Given the description of an element on the screen output the (x, y) to click on. 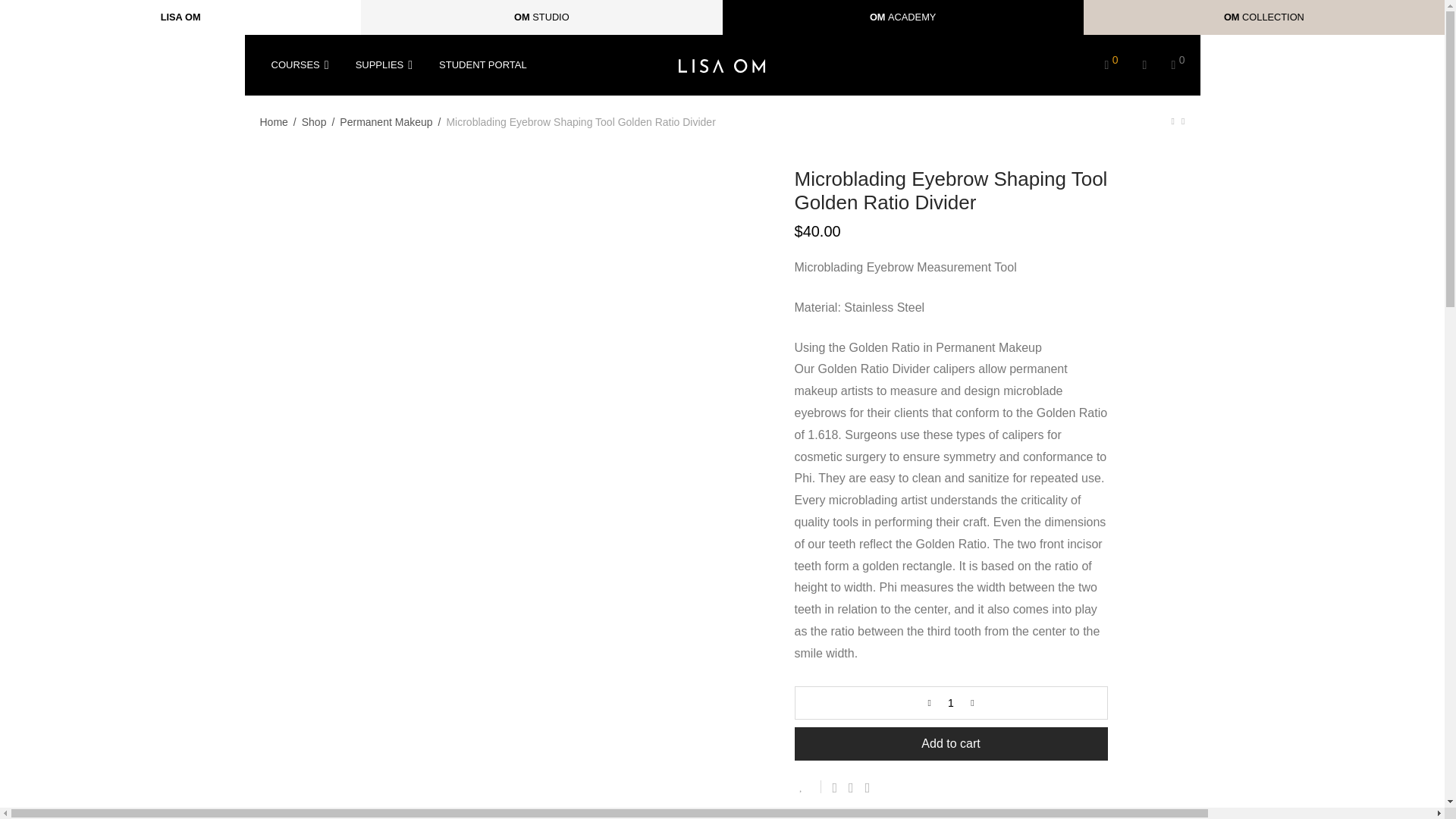
LISA OM (180, 16)
Add to Wishlist (807, 786)
ACADEMY (912, 16)
OM (1232, 16)
COLLECTION (1272, 16)
COURSES (301, 64)
OM (877, 16)
STUDIO (550, 16)
SUPPLIES (385, 64)
OM (521, 16)
